Given the description of an element on the screen output the (x, y) to click on. 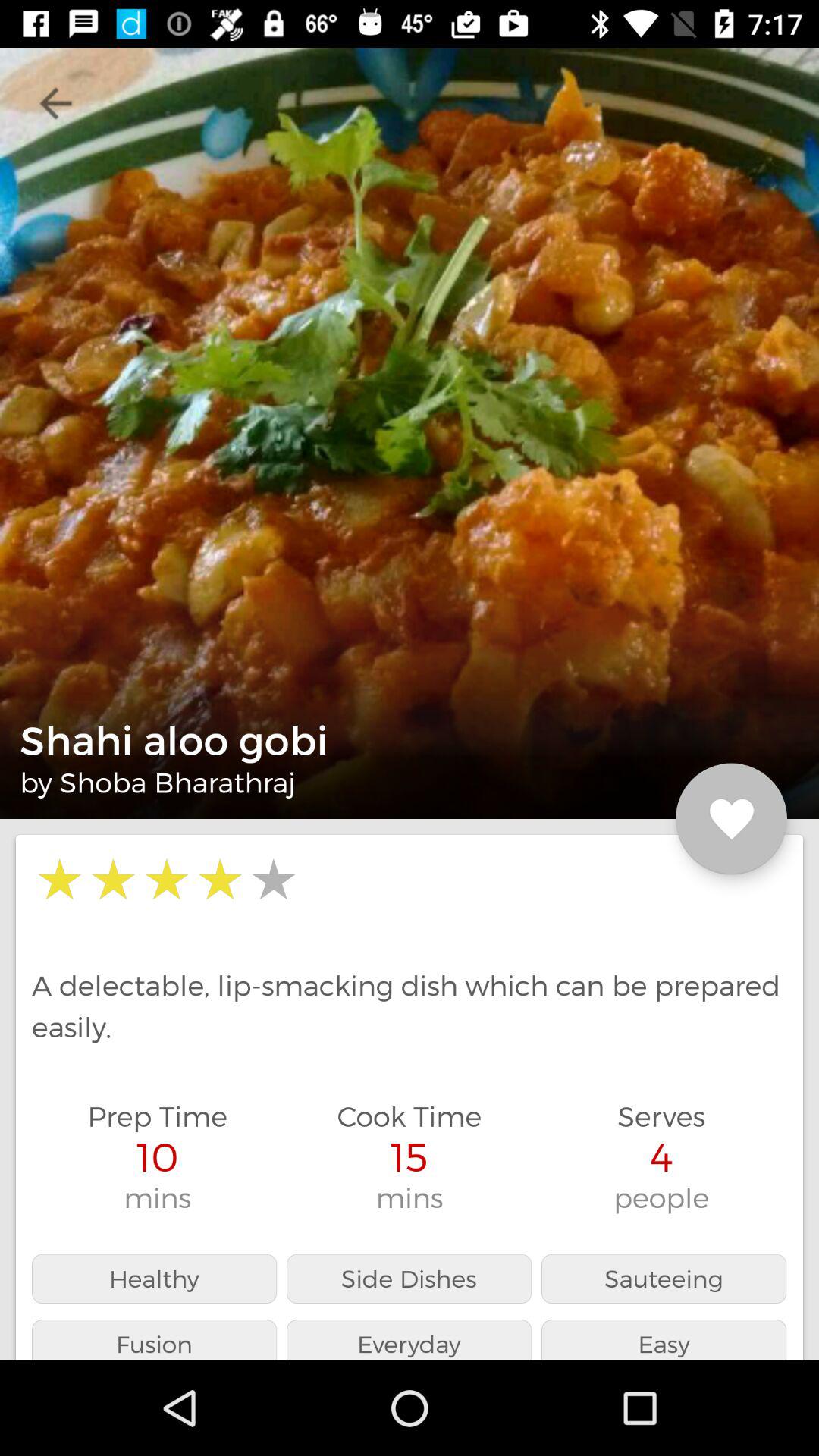
jump until by shoba bharathraj item (157, 782)
